Given the description of an element on the screen output the (x, y) to click on. 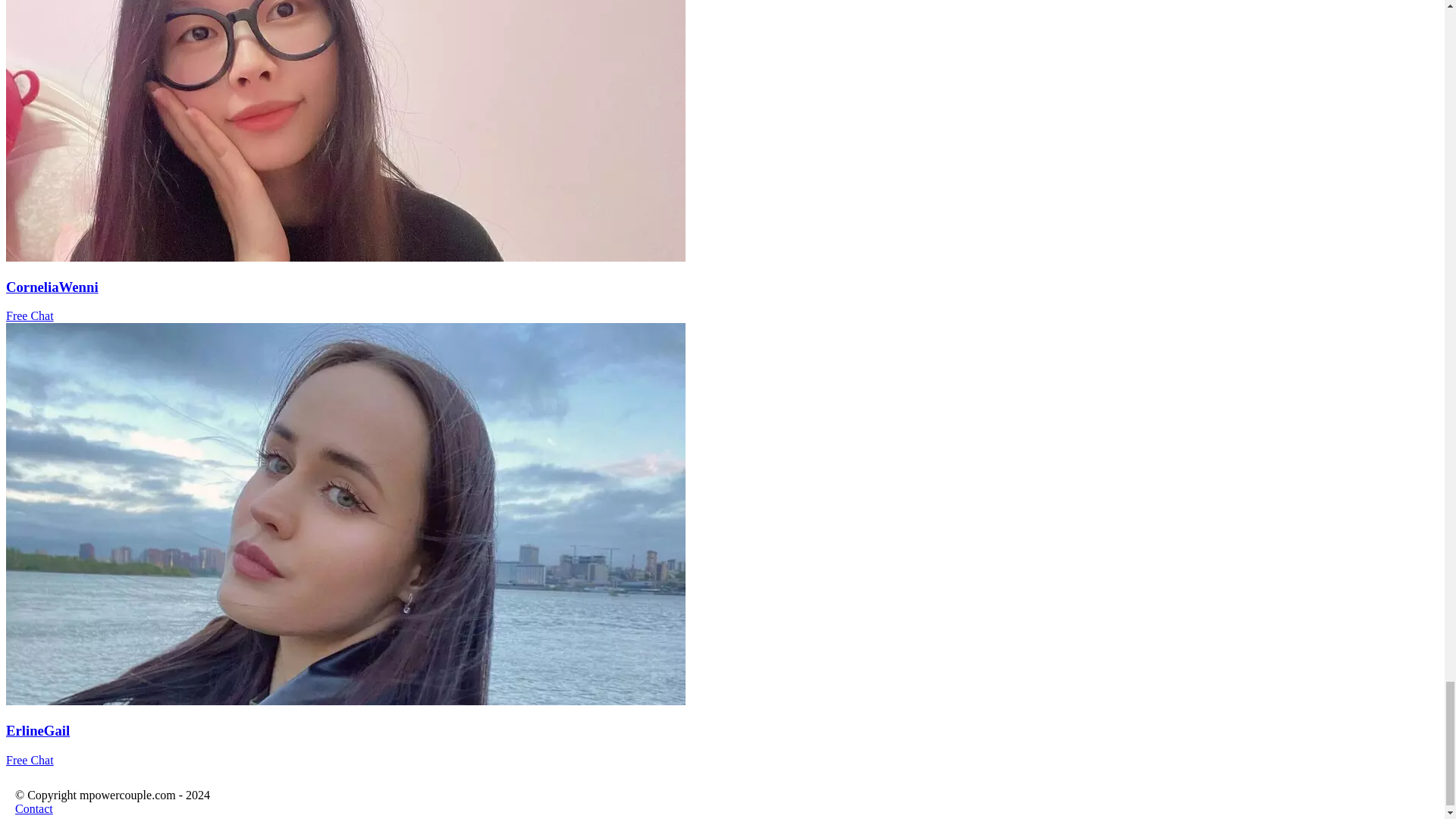
Contact (33, 808)
